Given the description of an element on the screen output the (x, y) to click on. 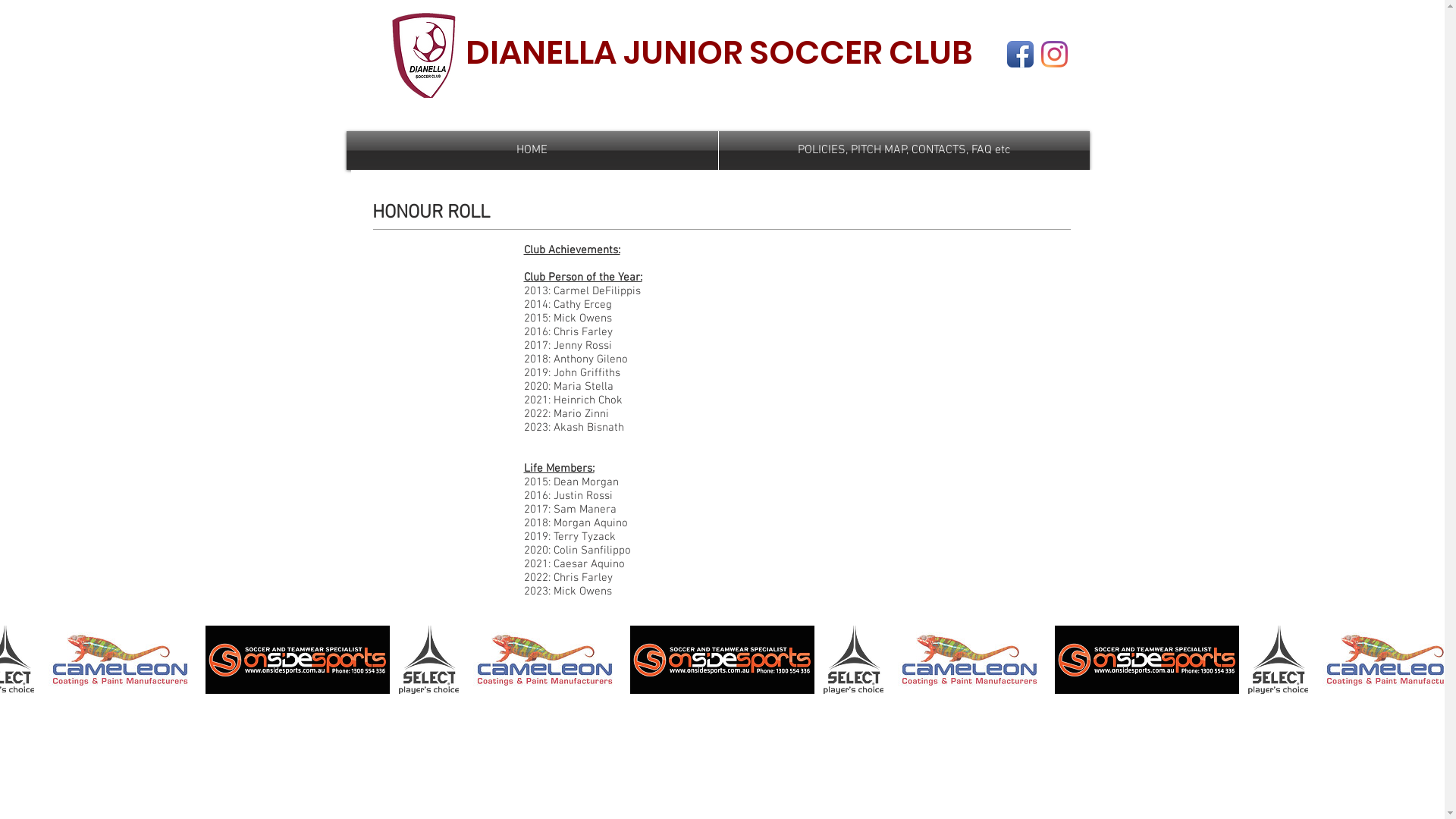
Life Members: Element type: text (558, 475)
HOME Element type: text (531, 150)
POLICIES, PITCH MAP, CONTACTS, FAQ etc Element type: text (903, 150)
DIANELLA JUNIOR SOCCER CLUB Element type: text (718, 52)
Club Achievements:

Club Person of the Year: Element type: text (582, 263)
